Given the description of an element on the screen output the (x, y) to click on. 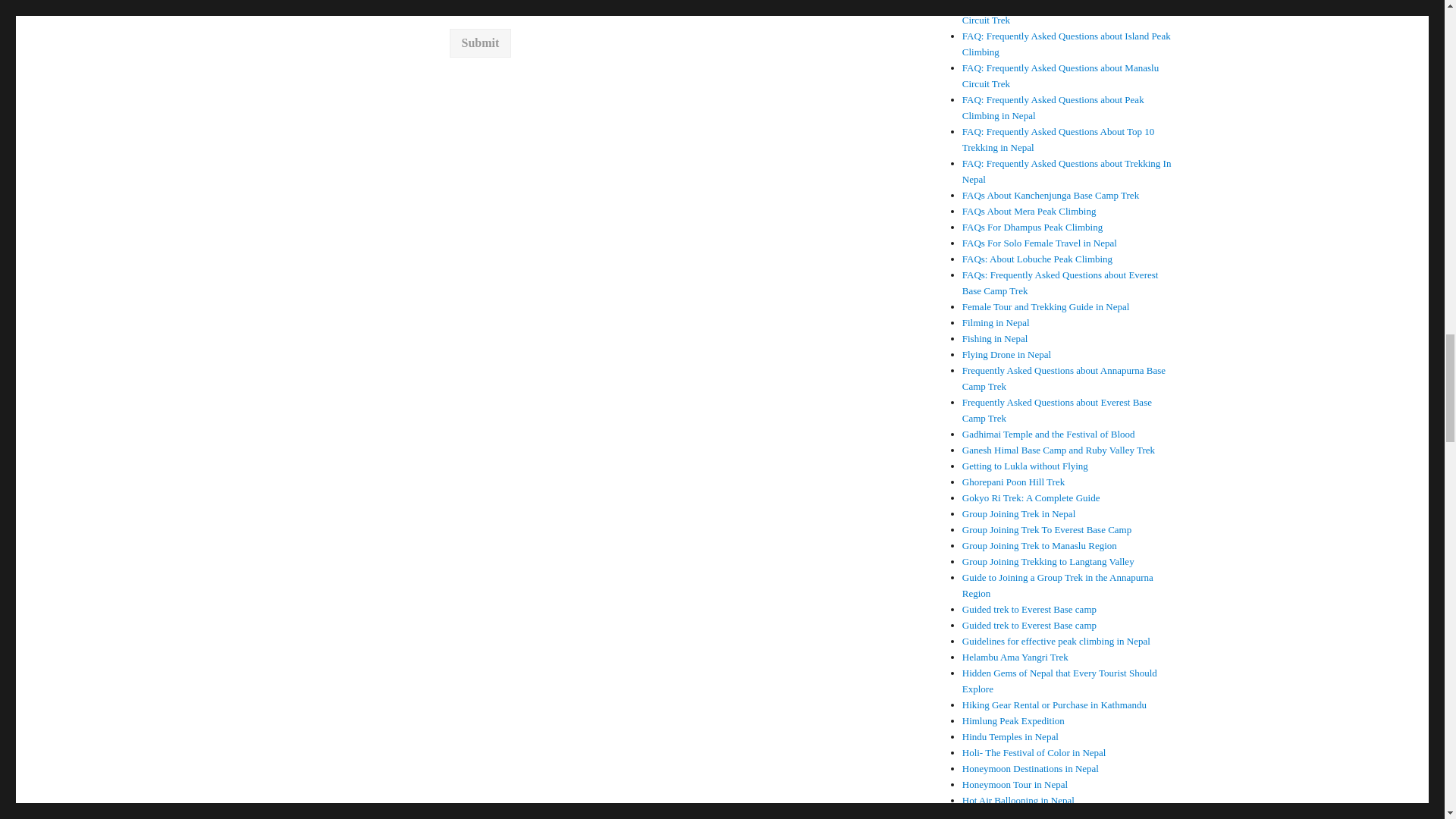
Submit (479, 42)
